Given the description of an element on the screen output the (x, y) to click on. 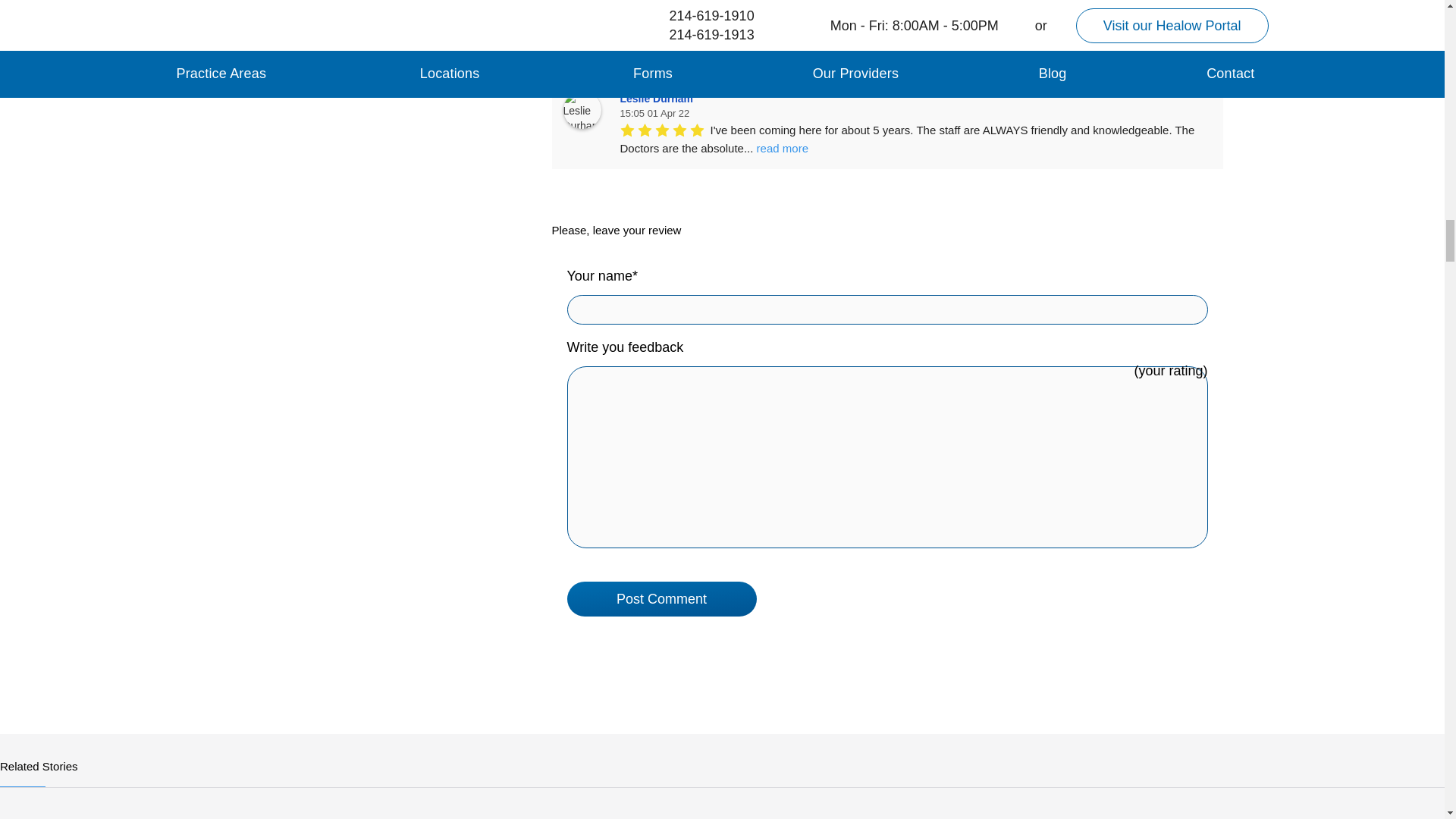
Linda M (580, 8)
Post Comment (662, 598)
Leslie Durham (580, 109)
